Given the description of an element on the screen output the (x, y) to click on. 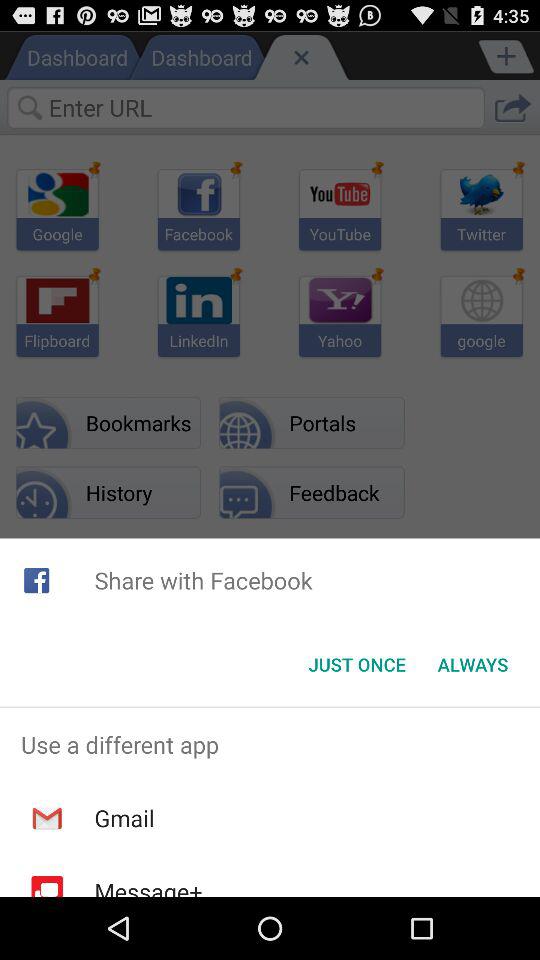
open the item below share with facebook item (472, 664)
